Given the description of an element on the screen output the (x, y) to click on. 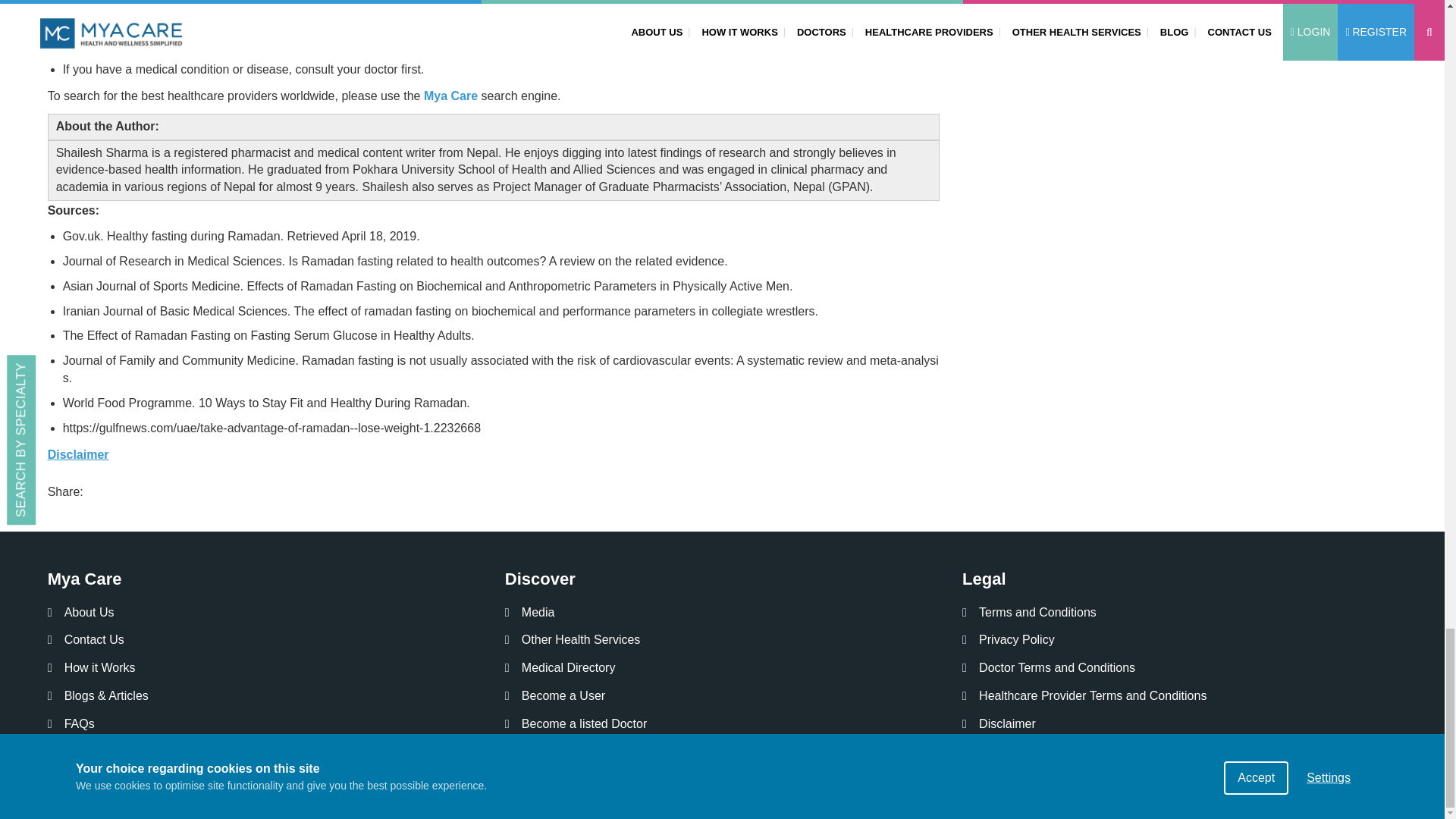
About Us (81, 612)
Disclaimer (78, 454)
Mya Care (450, 95)
